Given the description of an element on the screen output the (x, y) to click on. 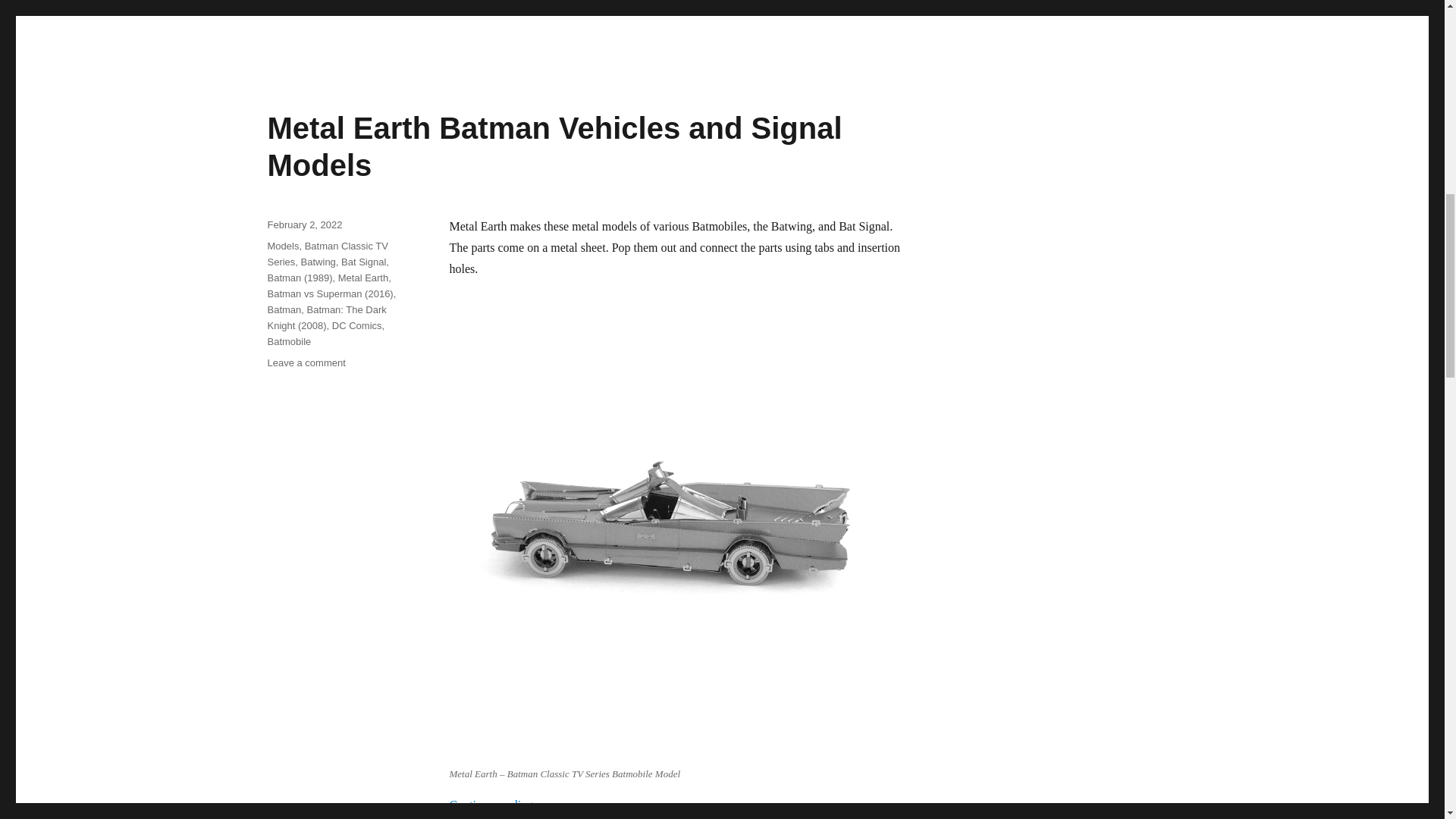
Batman Classic TV Series (326, 253)
Batmobile (288, 341)
Batwing (318, 261)
Bat Signal (362, 261)
Metal Earth (362, 277)
DC Comics (356, 325)
February 2, 2022 (304, 224)
Batman (283, 309)
Metal Earth Batman Vehicles and Signal Models (553, 146)
Models (282, 245)
